Given the description of an element on the screen output the (x, y) to click on. 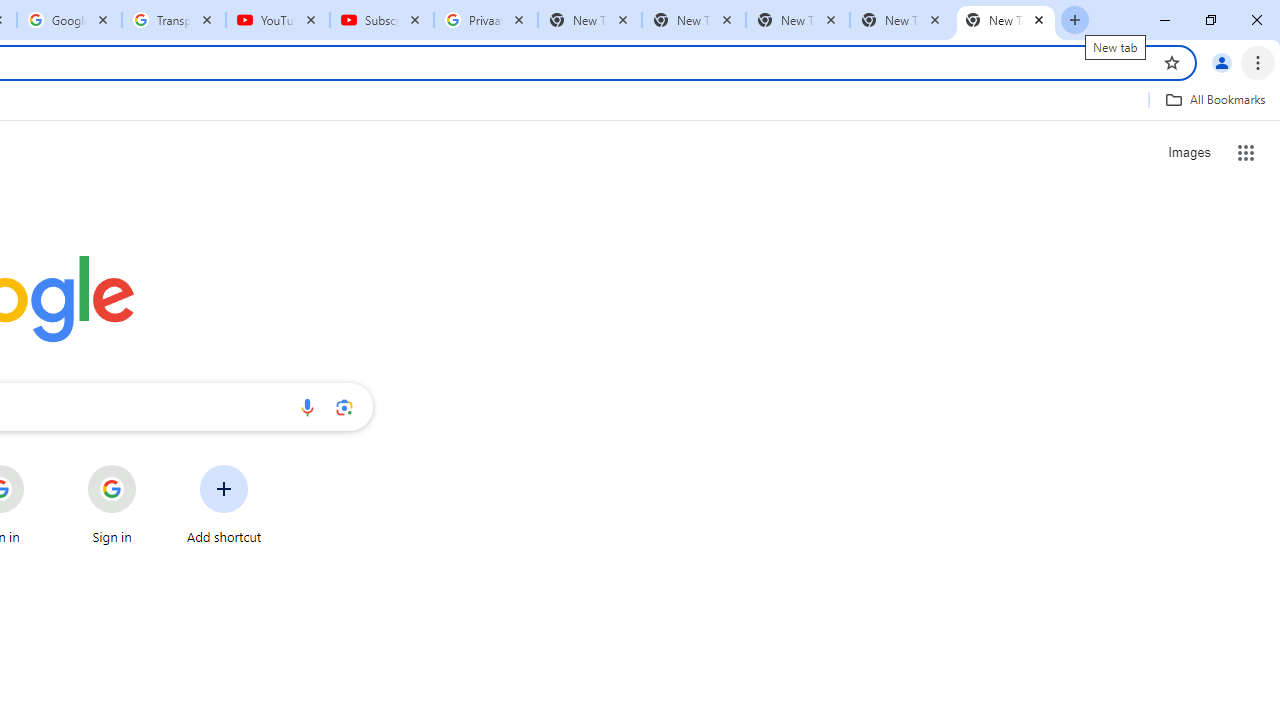
New Tab (797, 20)
Google Account (68, 20)
New Tab (1005, 20)
